Given the description of an element on the screen output the (x, y) to click on. 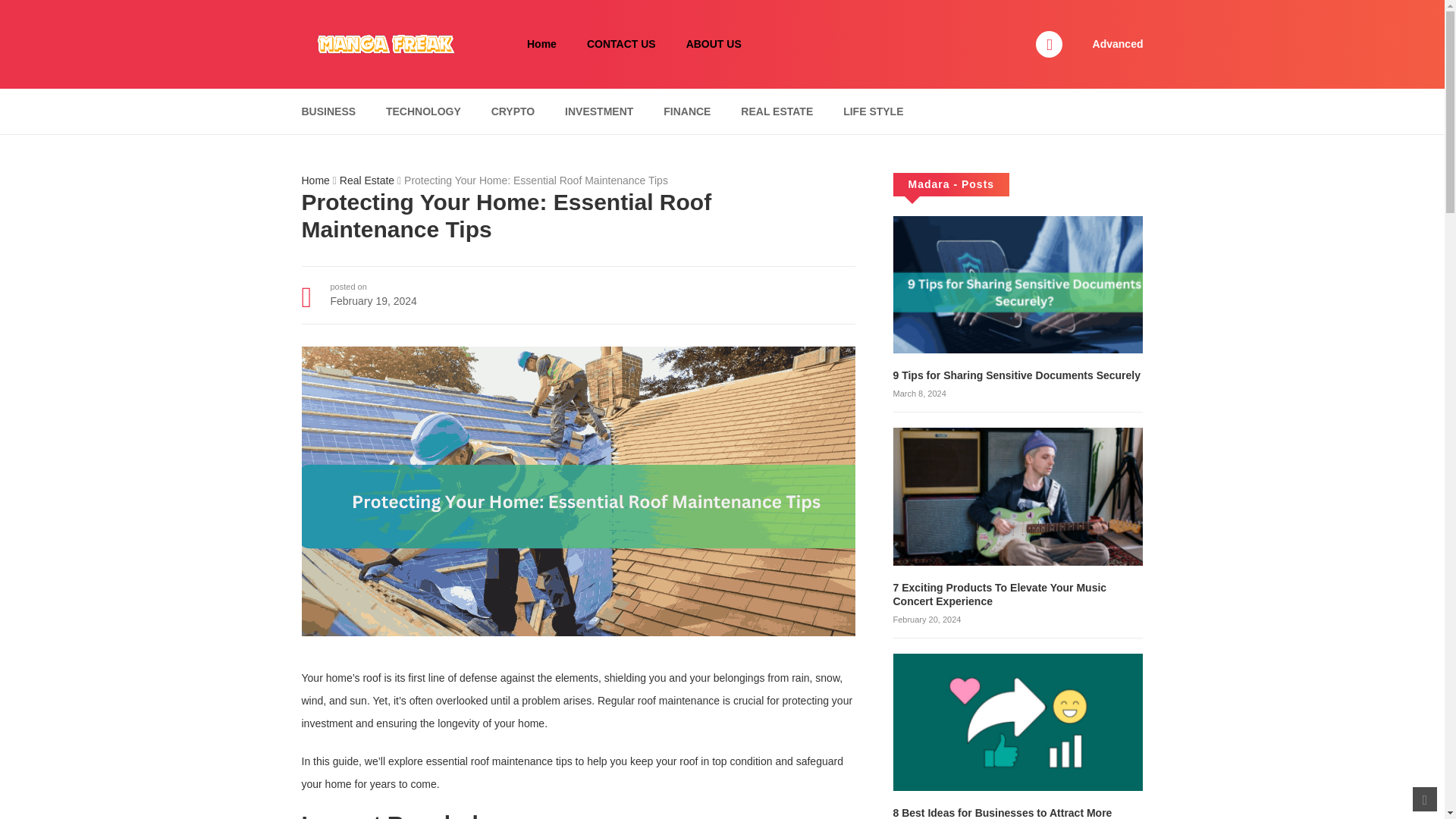
9 Tips for Sharing Sensitive Documents Securely (1017, 375)
Advanced (1117, 43)
February 19, 2024 (373, 300)
TECHNOLOGY (422, 111)
Home (542, 44)
FINANCE (686, 111)
ABOUT US (714, 44)
Search (970, 9)
Home (315, 180)
CONTACT US (621, 44)
7 Exciting Products To Elevate Your Music Concert Experience (1017, 495)
9 Tips for Sharing Sensitive Documents Securely (1017, 283)
7 Exciting Products To Elevate Your Music Concert Experience (999, 594)
REAL ESTATE (776, 111)
